Given the description of an element on the screen output the (x, y) to click on. 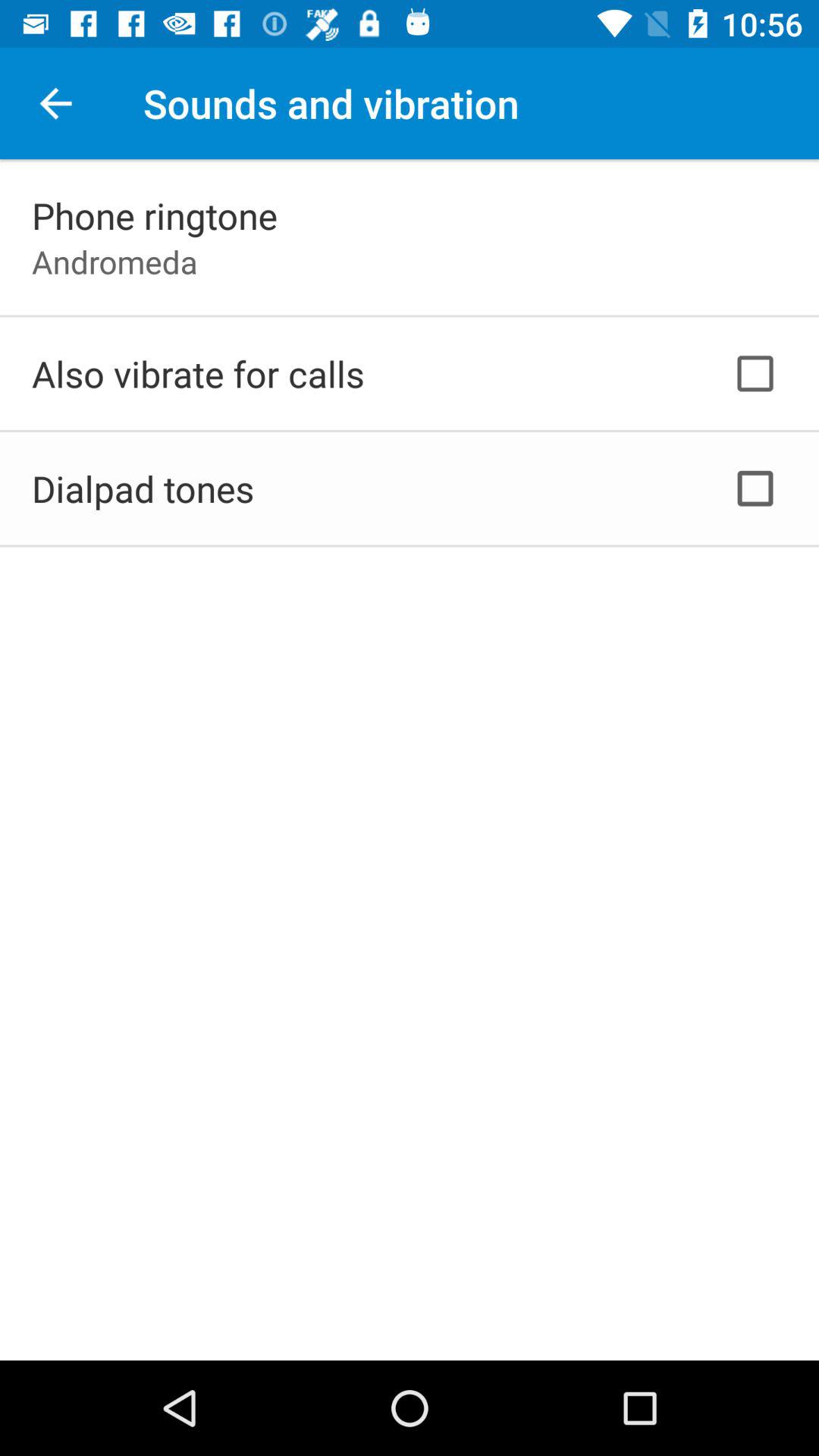
tap the icon on the left (142, 488)
